Given the description of an element on the screen output the (x, y) to click on. 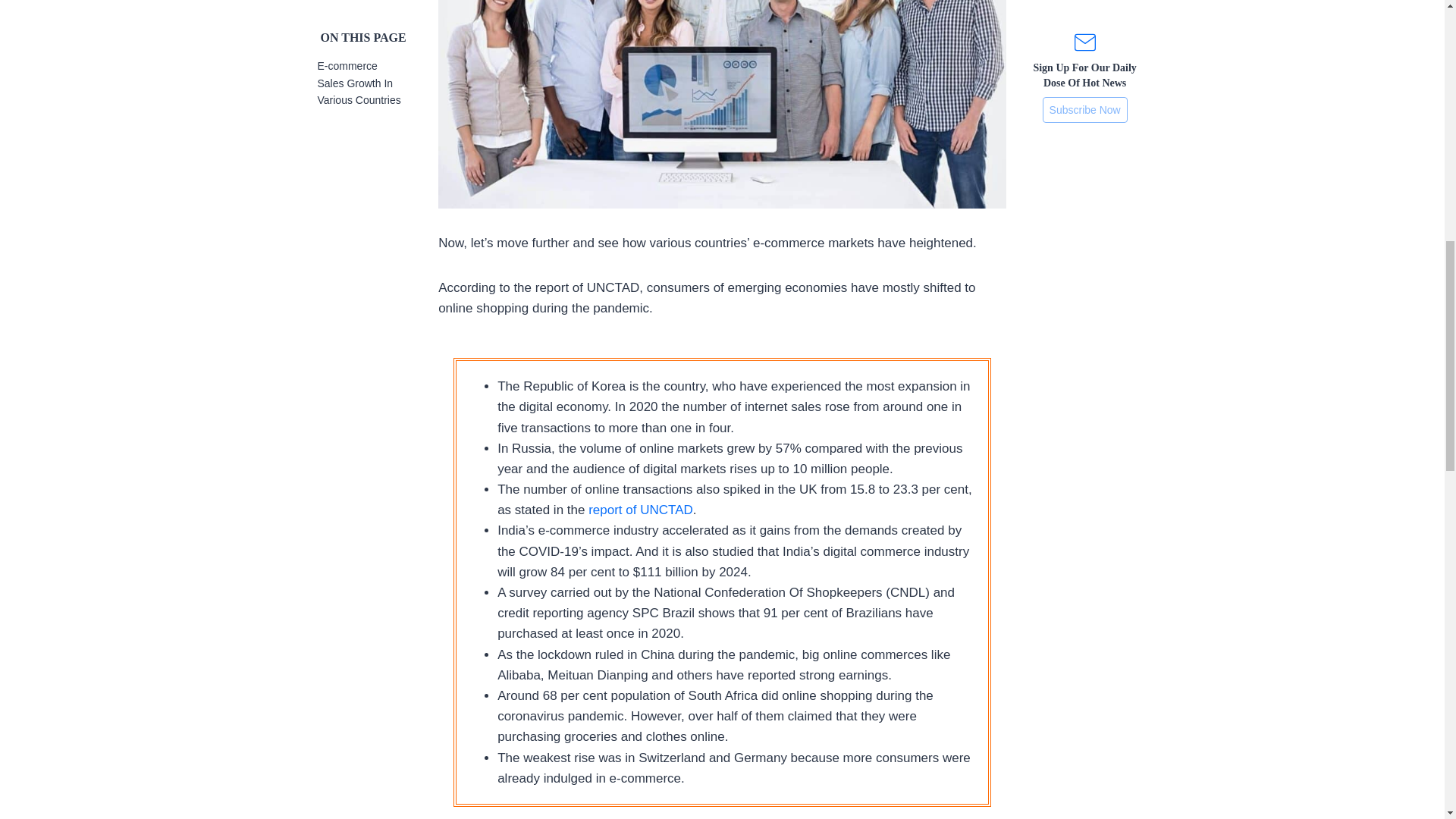
report of UNCTAD (640, 509)
